Given the description of an element on the screen output the (x, y) to click on. 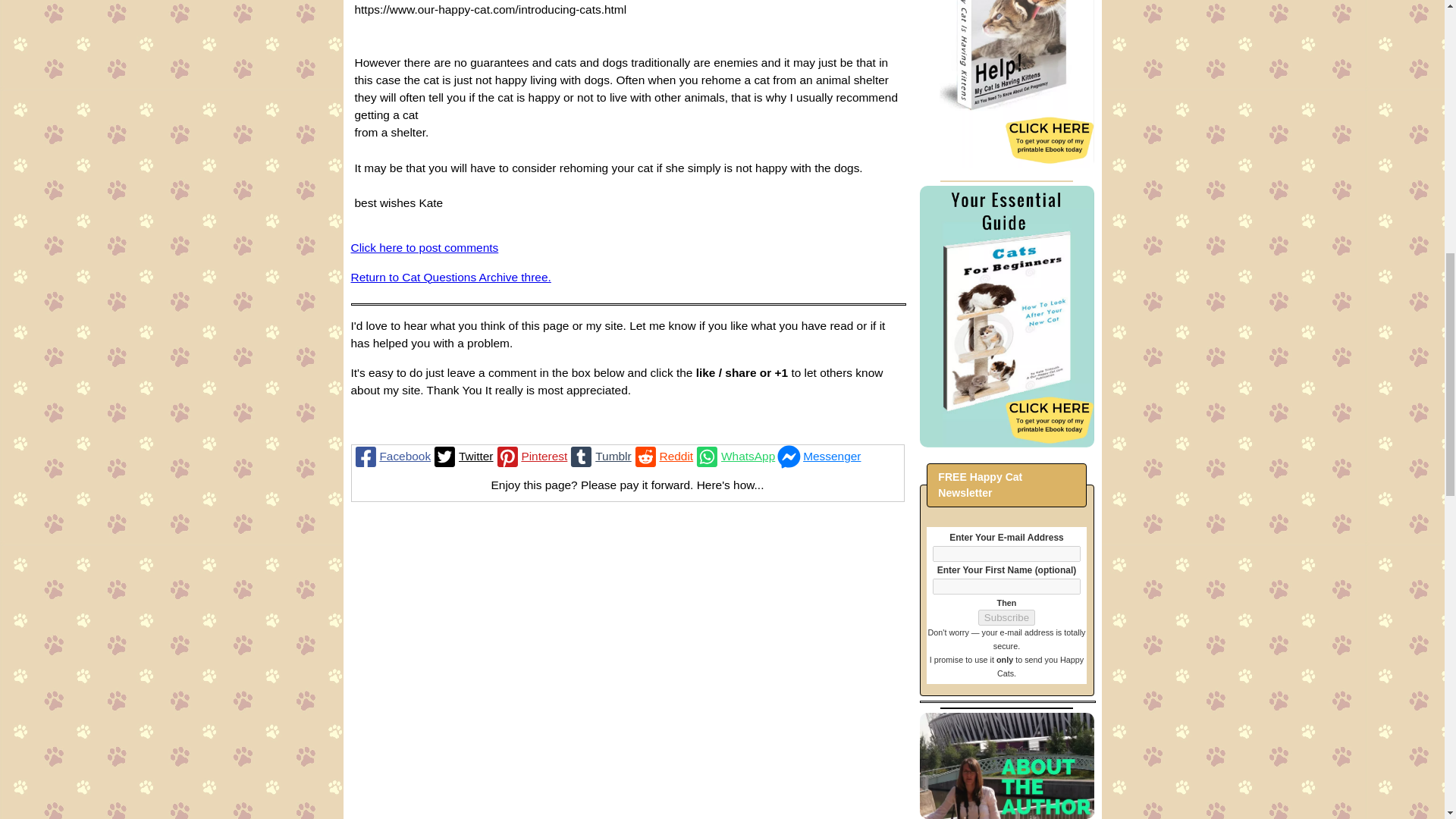
Go to My Cat Is Having Kittens - A Helpful Ebook (1005, 163)
Go to About Me and Our Happy Cat Site (1005, 814)
Subscribe (1006, 617)
Go to Cats For Beginners Ebook (1005, 443)
